Given the description of an element on the screen output the (x, y) to click on. 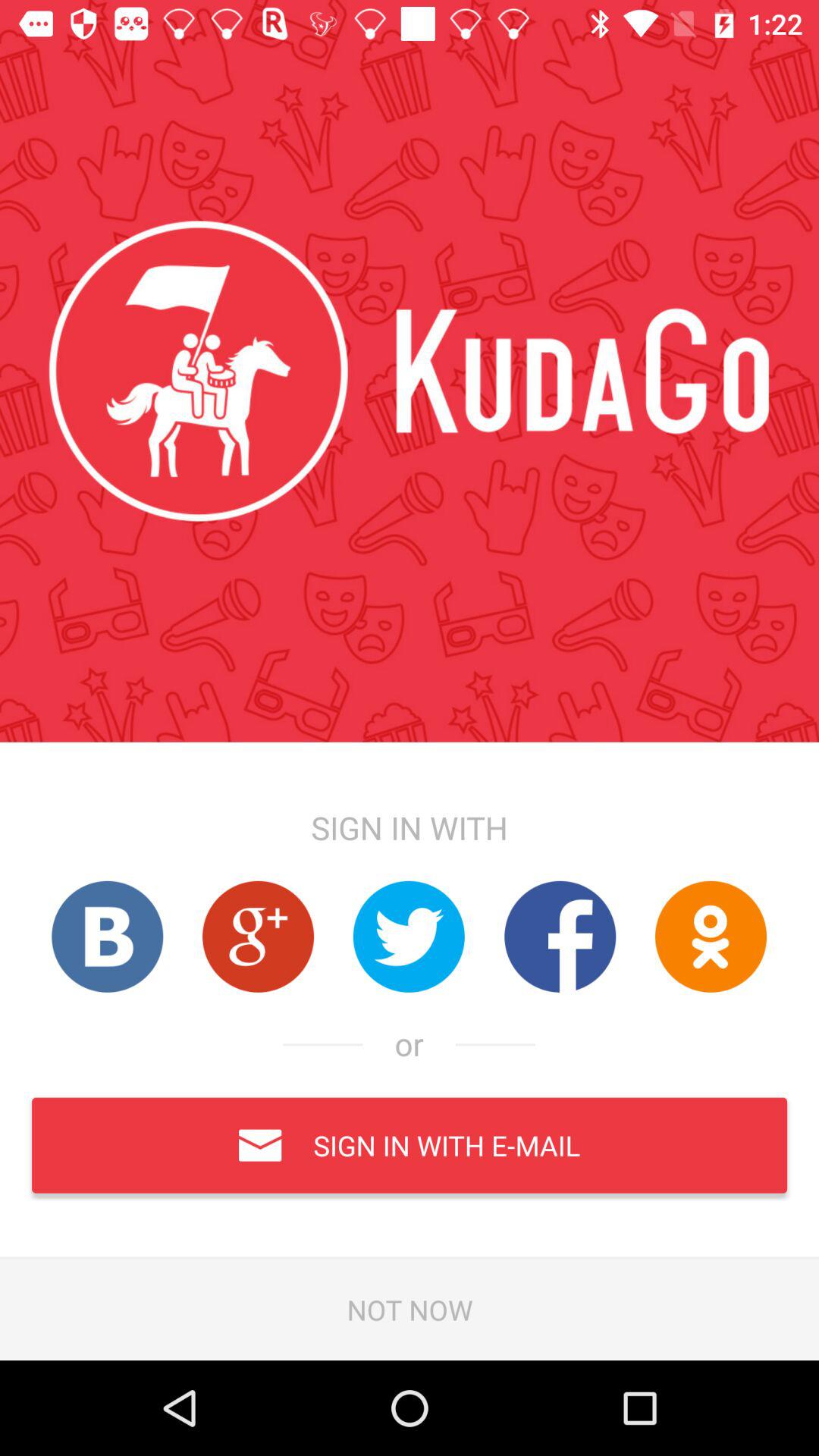
go to previous (257, 936)
